Given the description of an element on the screen output the (x, y) to click on. 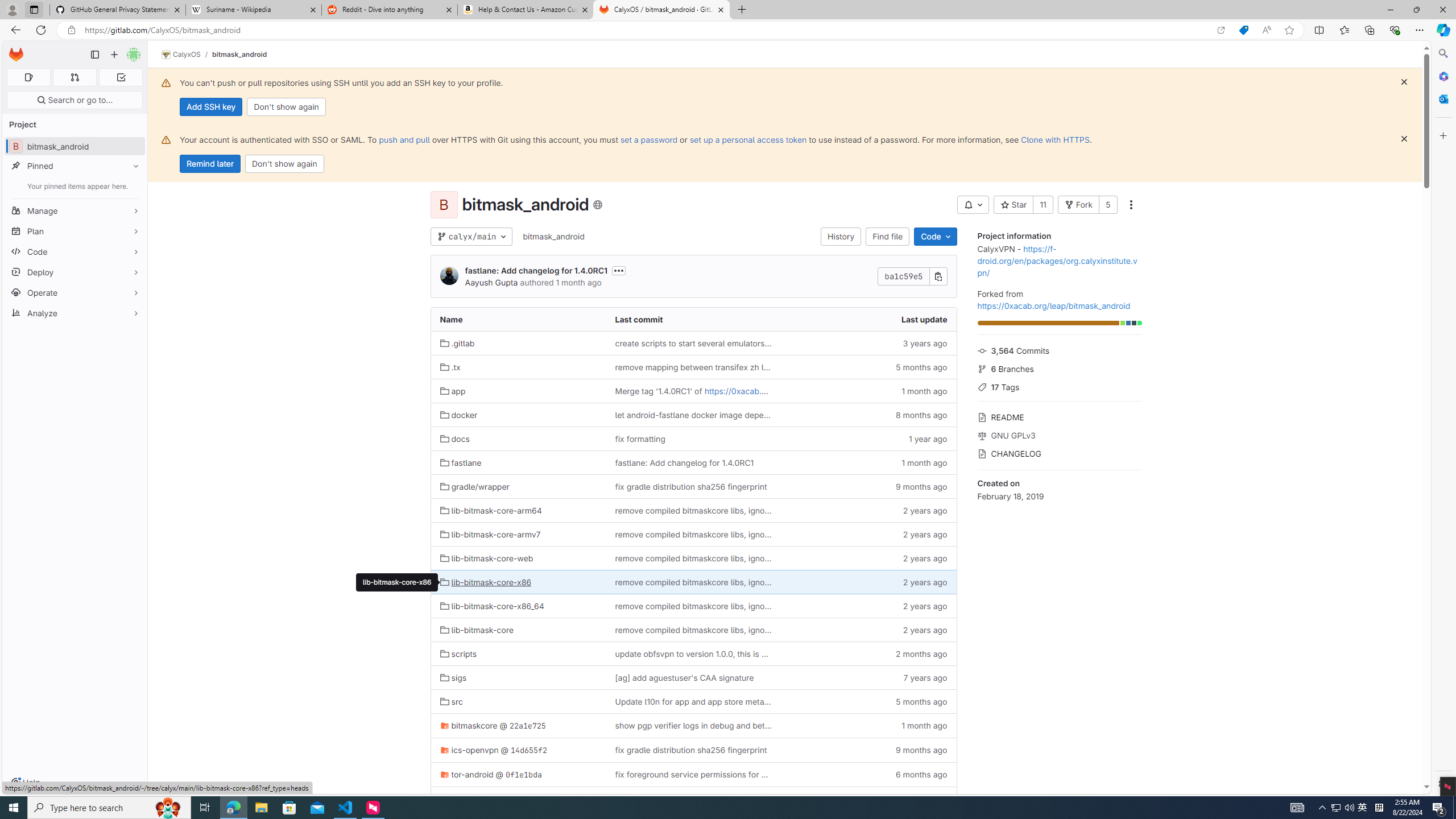
bitmaskcore (468, 725)
AutomationID: __BVID__265__BV_toggle_ (972, 204)
GitHub General Privacy Statement - GitHub Docs (117, 9)
[ag] add aguestuser's CAA signature (684, 677)
.gitignore (462, 798)
CHANGELOG (1058, 452)
Class: s16 gl-icon gl-button-icon  (1404, 138)
sigs (453, 677)
GNU GPLv3 (1058, 434)
7 years ago (868, 677)
fastlane (460, 462)
Help (25, 782)
fix gradle distribution sha256 fingerprint (693, 749)
